Given the description of an element on the screen output the (x, y) to click on. 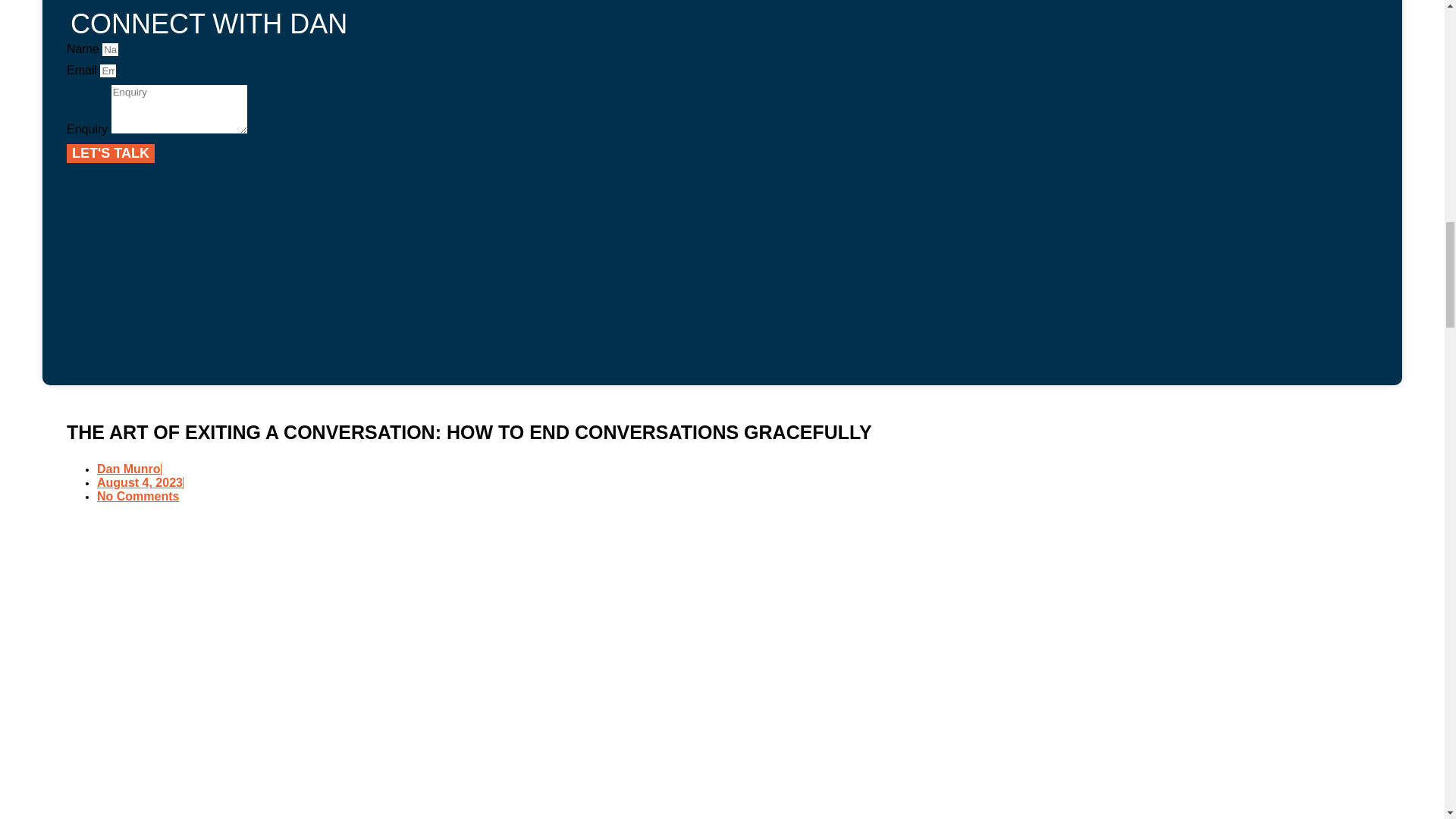
Post Comment (524, 786)
